Given the description of an element on the screen output the (x, y) to click on. 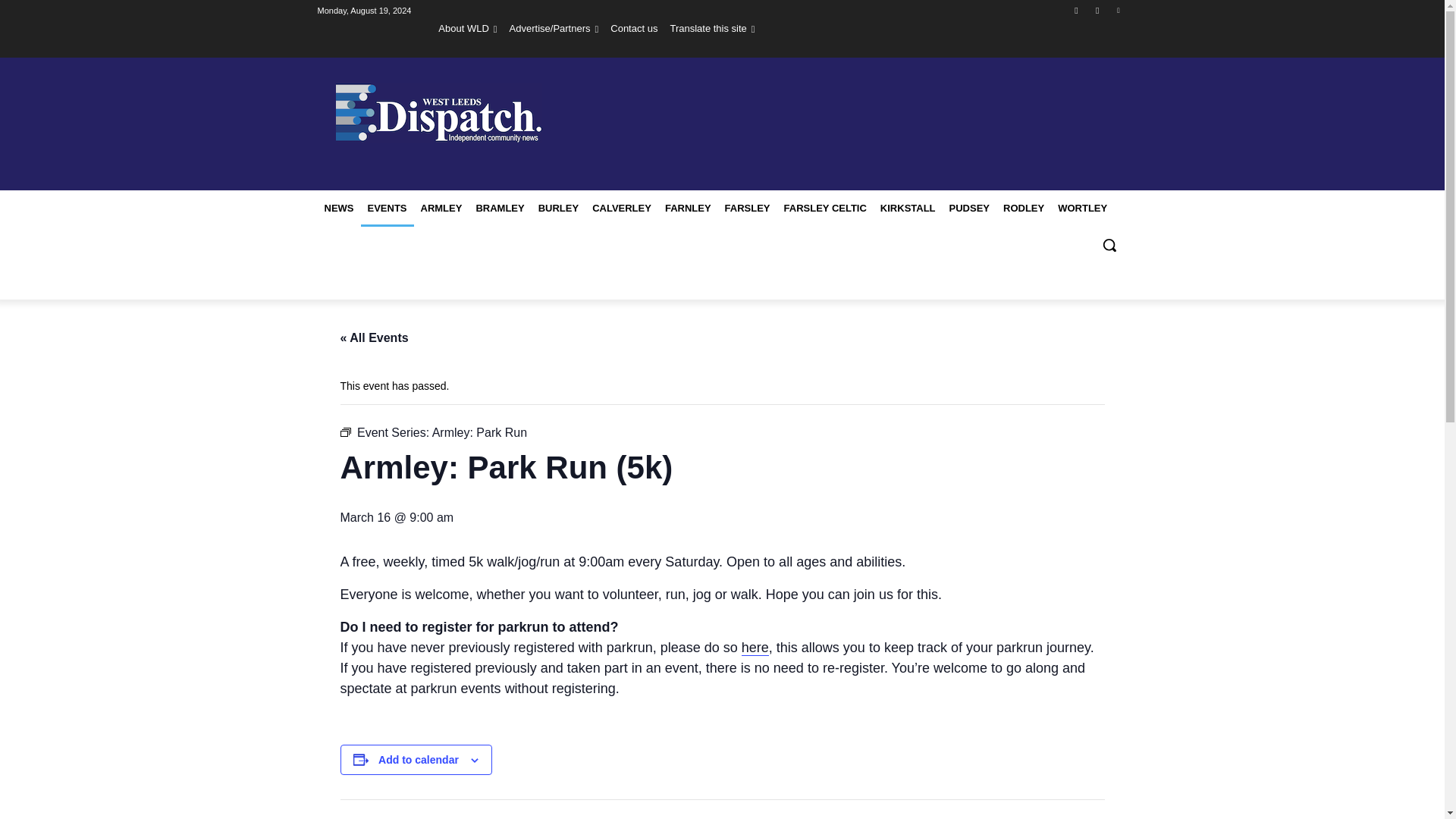
Event Series (344, 431)
About WLD (467, 28)
Translate this site (711, 28)
Contact us (634, 28)
